Given the description of an element on the screen output the (x, y) to click on. 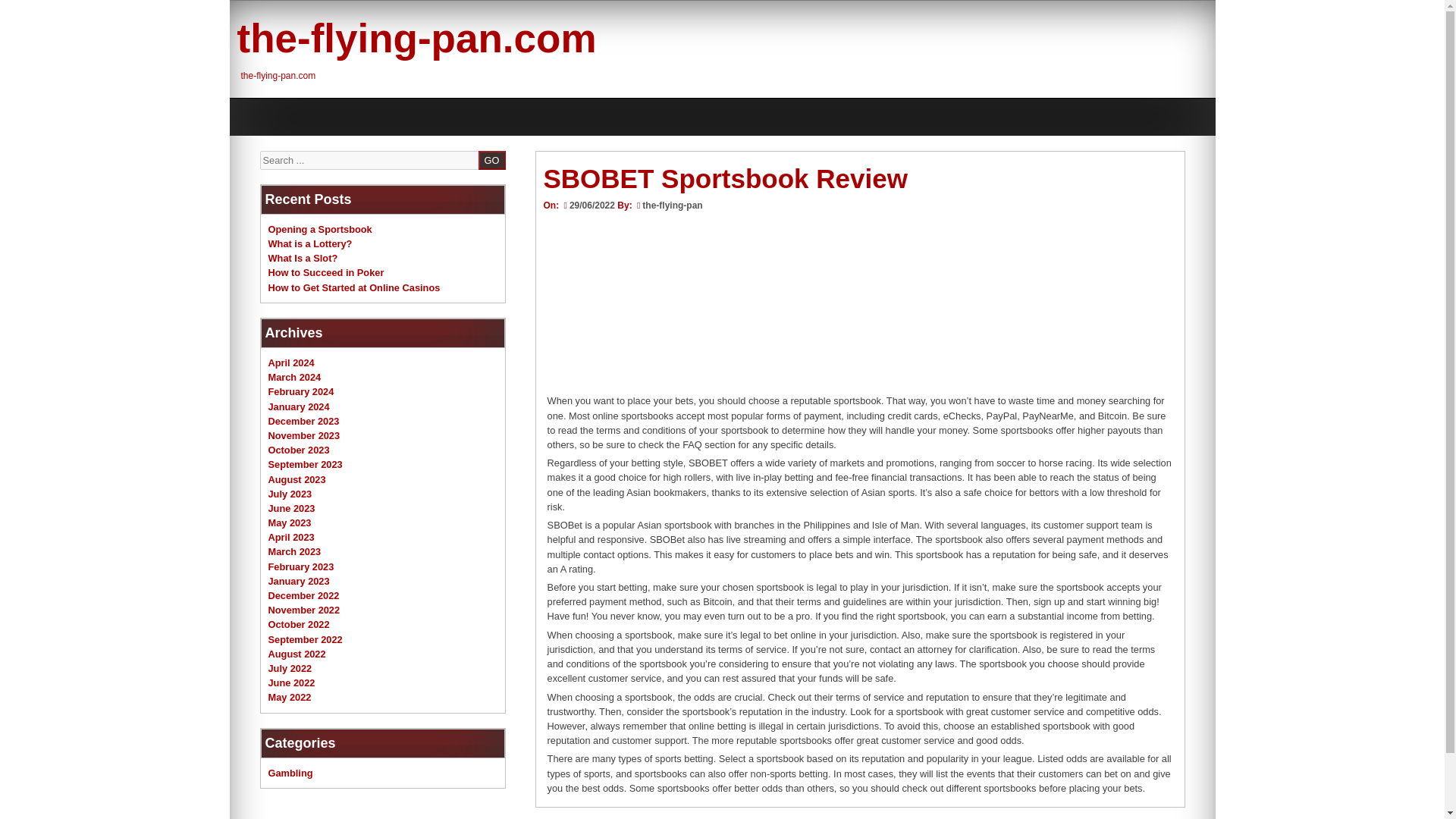
July 2022 (290, 668)
May 2022 (289, 696)
Opening a Sportsbook (319, 229)
How to Get Started at Online Casinos (354, 287)
April 2023 (290, 536)
January 2023 (298, 581)
August 2023 (296, 478)
April 2024 (290, 362)
GO (492, 158)
the-flying-pan (671, 204)
